Given the description of an element on the screen output the (x, y) to click on. 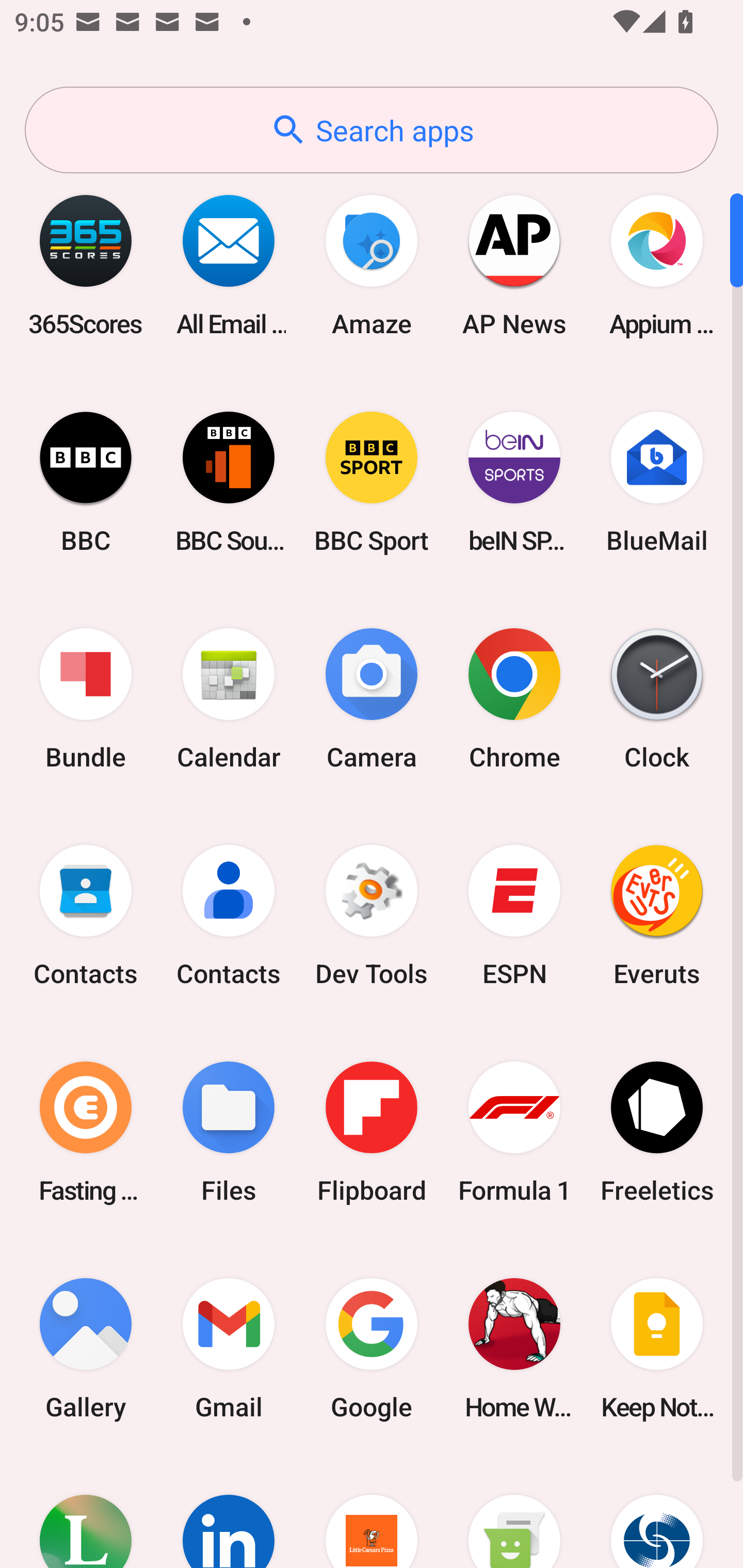
  Search apps (371, 130)
365Scores (85, 264)
All Email Connect (228, 264)
Amaze (371, 264)
AP News (514, 264)
Appium Settings (656, 264)
BBC (85, 482)
BBC Sounds (228, 482)
BBC Sport (371, 482)
beIN SPORTS (514, 482)
BlueMail (656, 482)
Bundle (85, 699)
Calendar (228, 699)
Camera (371, 699)
Chrome (514, 699)
Clock (656, 699)
Contacts (85, 915)
Contacts (228, 915)
Dev Tools (371, 915)
ESPN (514, 915)
Everuts (656, 915)
Fasting Coach (85, 1131)
Files (228, 1131)
Flipboard (371, 1131)
Formula 1 (514, 1131)
Freeletics (656, 1131)
Gallery (85, 1348)
Gmail (228, 1348)
Google (371, 1348)
Home Workout (514, 1348)
Keep Notes (656, 1348)
Lifesum (85, 1512)
LinkedIn (228, 1512)
Little Caesars Pizza (371, 1512)
Messaging (514, 1512)
MyObservatory (656, 1512)
